Given the description of an element on the screen output the (x, y) to click on. 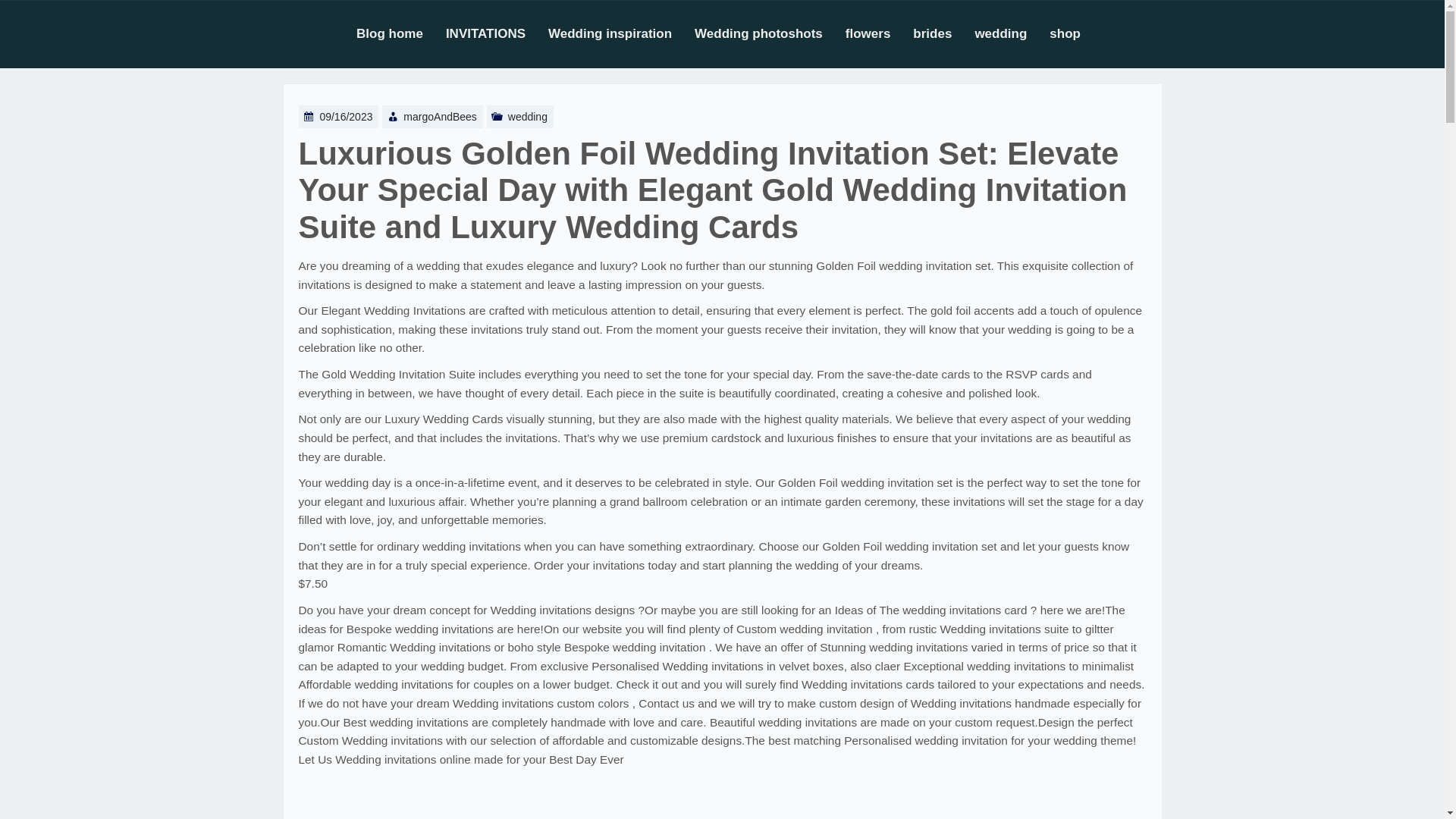
flowers (879, 33)
brides (943, 33)
INVITATIONS (496, 33)
wedding (1011, 33)
Blog home (400, 33)
margoAndBees (440, 116)
Wedding photoshots (769, 33)
wedding (527, 116)
Wedding inspiration (621, 33)
shop (1076, 33)
